Given the description of an element on the screen output the (x, y) to click on. 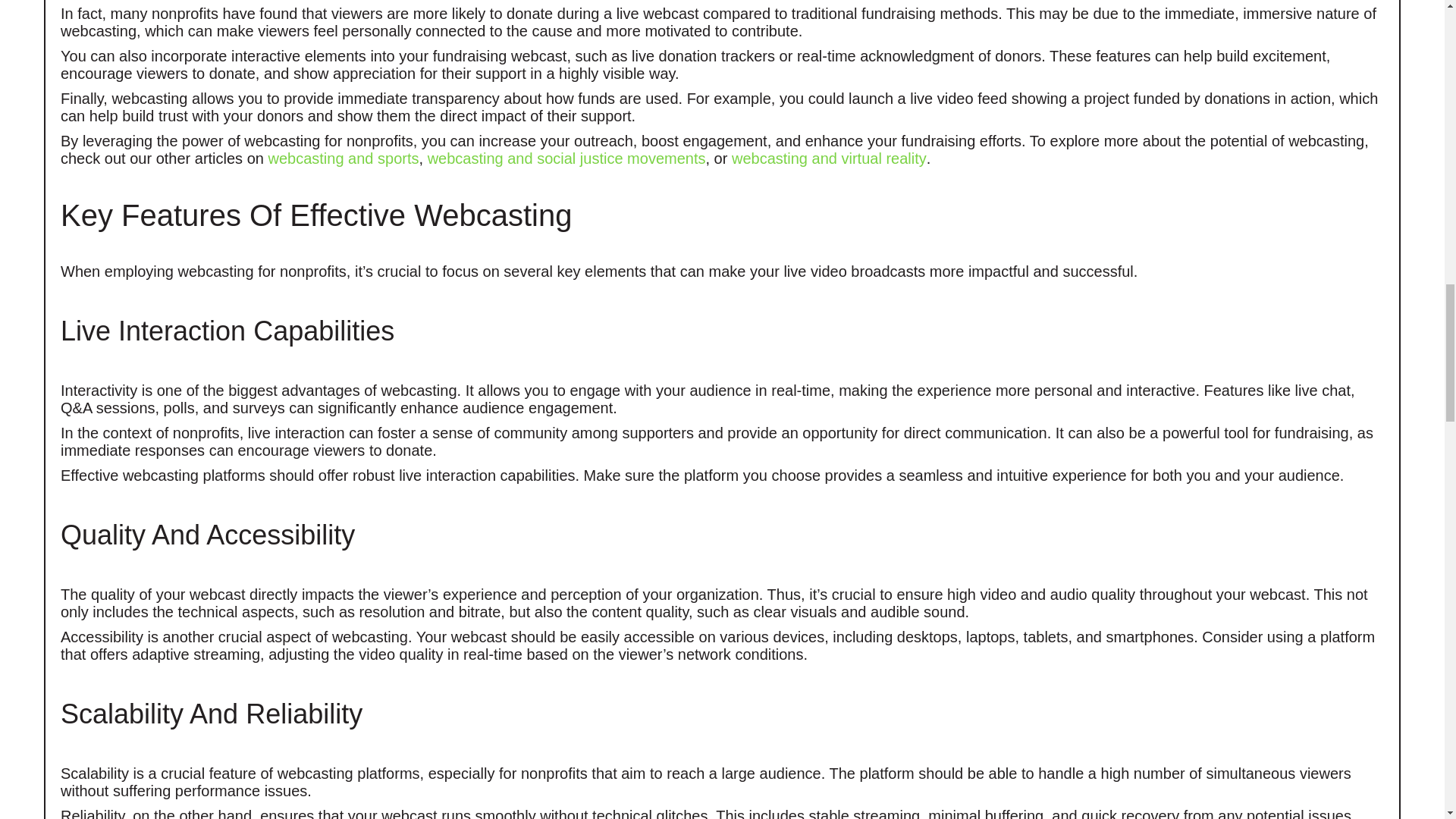
webcasting and virtual reality (829, 158)
webcasting and sports (343, 158)
webcasting and social justice movements (567, 158)
